Given the description of an element on the screen output the (x, y) to click on. 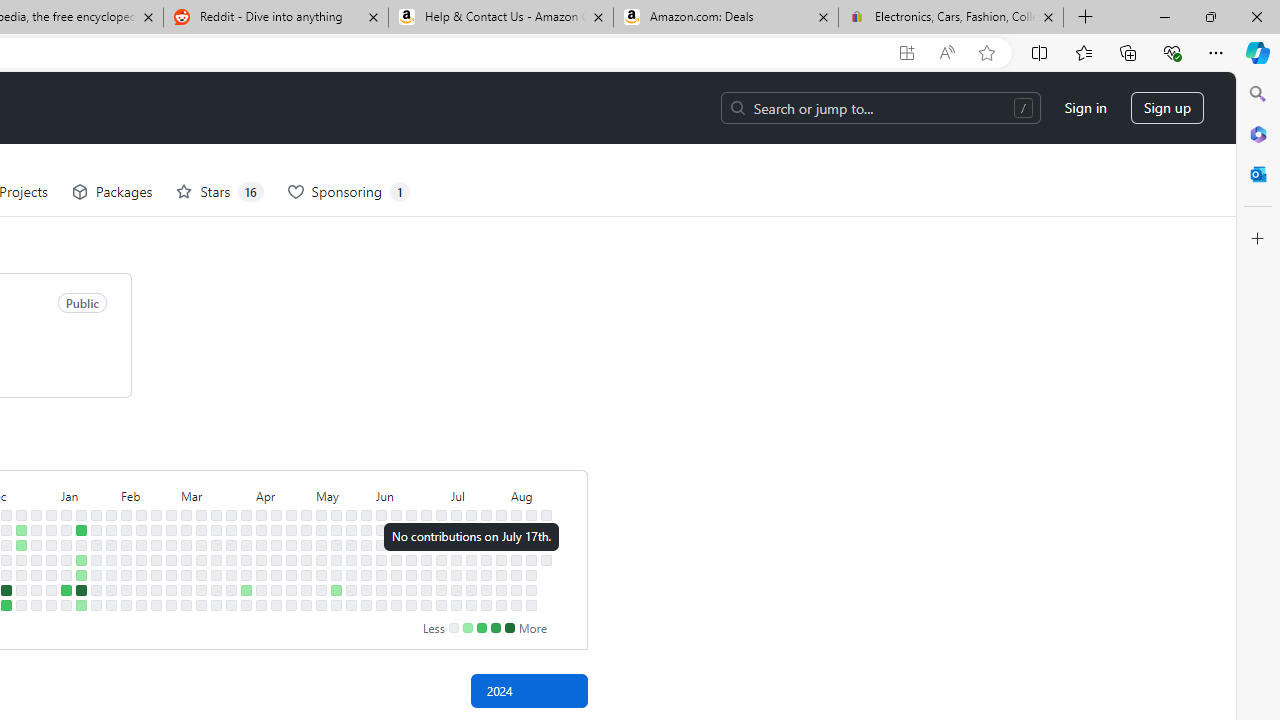
No contributions on June 13th. (395, 574)
No contributions on June 1st. (366, 605)
1 contribution on January 17th. (81, 559)
No contributions on February 12th. (141, 529)
No contributions on December 11th. (6, 529)
No contributions on March 31st. (246, 515)
No contributions on February 1st. (111, 574)
No contributions on March 11th. (201, 529)
Sign up (1167, 107)
No contributions on July 8th. (456, 529)
No contributions on March 24th. (231, 515)
No contributions on April 11th. (261, 574)
No contributions on February 21st. (156, 559)
No contributions on March 21st. (216, 574)
No contributions on February 17th. (141, 605)
